Given the description of an element on the screen output the (x, y) to click on. 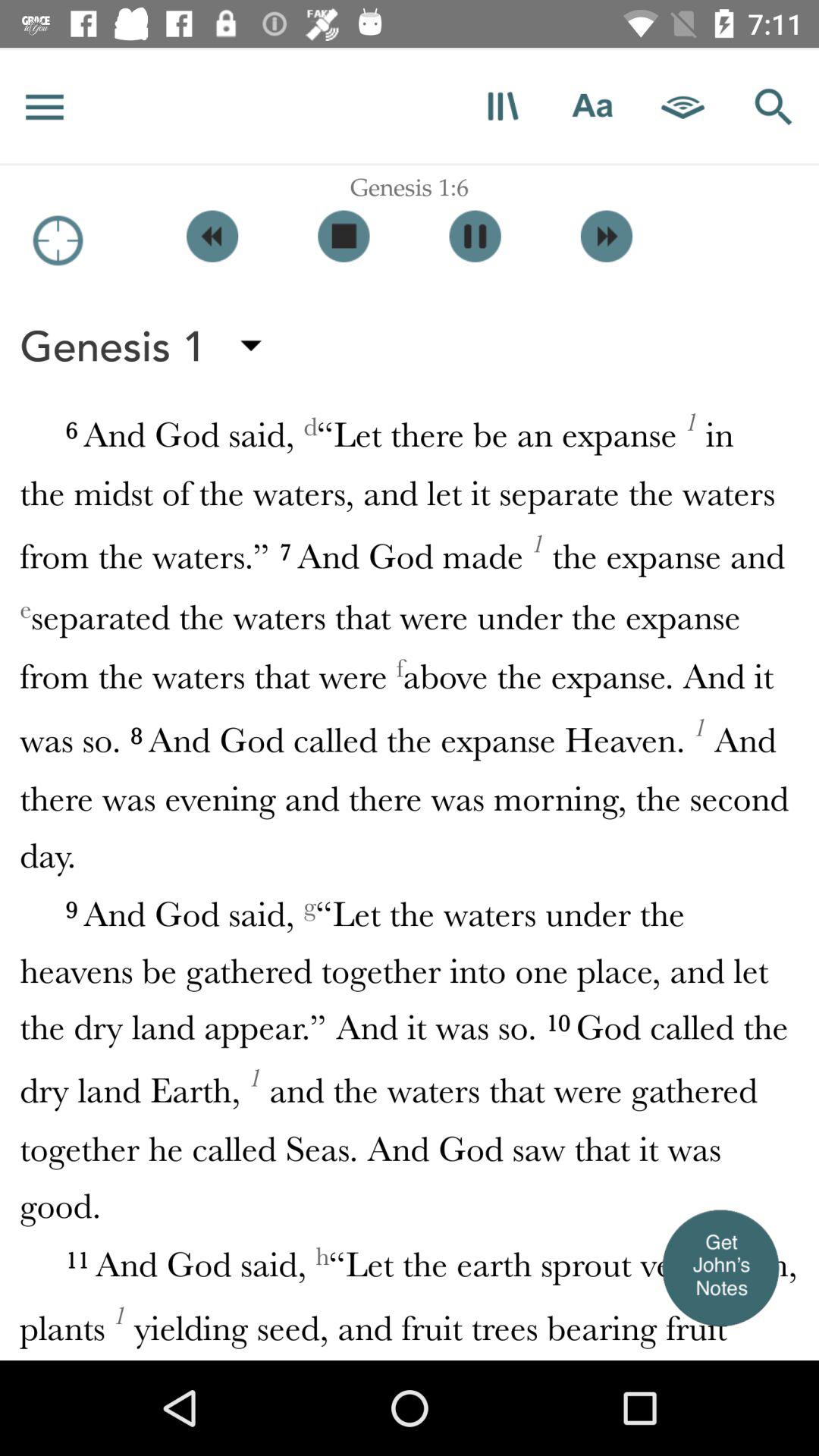
toggle audio off (343, 236)
